Given the description of an element on the screen output the (x, y) to click on. 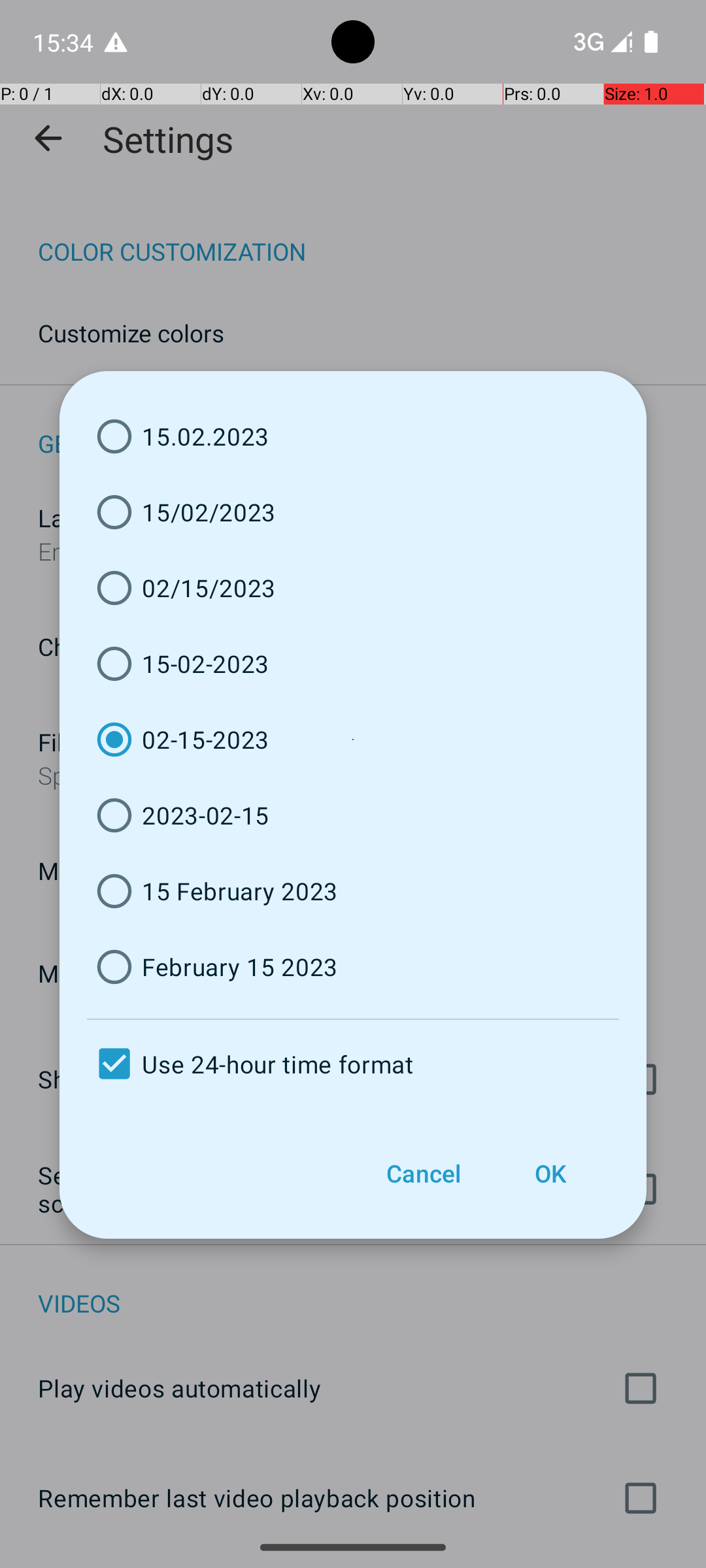
Use 24-hour time format Element type: android.widget.CheckBox (352, 1063)
15.02.2023 Element type: android.widget.RadioButton (352, 436)
15/02/2023 Element type: android.widget.RadioButton (352, 512)
02/15/2023 Element type: android.widget.RadioButton (352, 587)
15-02-2023 Element type: android.widget.RadioButton (352, 663)
02-15-2023 Element type: android.widget.RadioButton (352, 739)
2023-02-15 Element type: android.widget.RadioButton (352, 815)
15 February 2023 Element type: android.widget.RadioButton (352, 891)
February 15 2023 Element type: android.widget.RadioButton (352, 966)
